Given the description of an element on the screen output the (x, y) to click on. 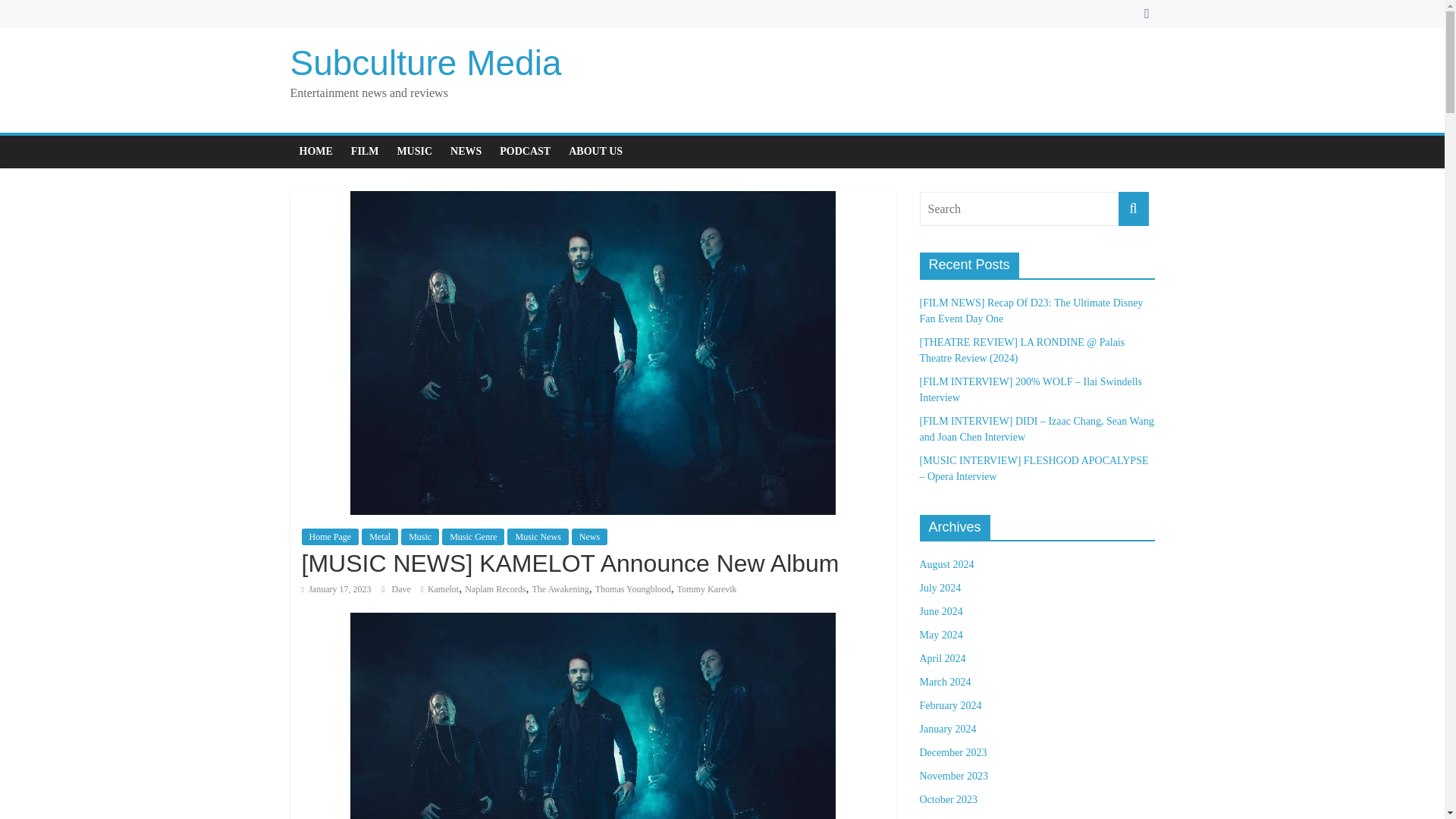
Dave (402, 588)
July 2024 (939, 587)
HOME (314, 151)
Thomas Youngblood (633, 588)
ABOUT US (595, 151)
Music News (536, 536)
May 2024 (940, 634)
NEWS (465, 151)
PODCAST (524, 151)
February 2024 (949, 705)
